Given the description of an element on the screen output the (x, y) to click on. 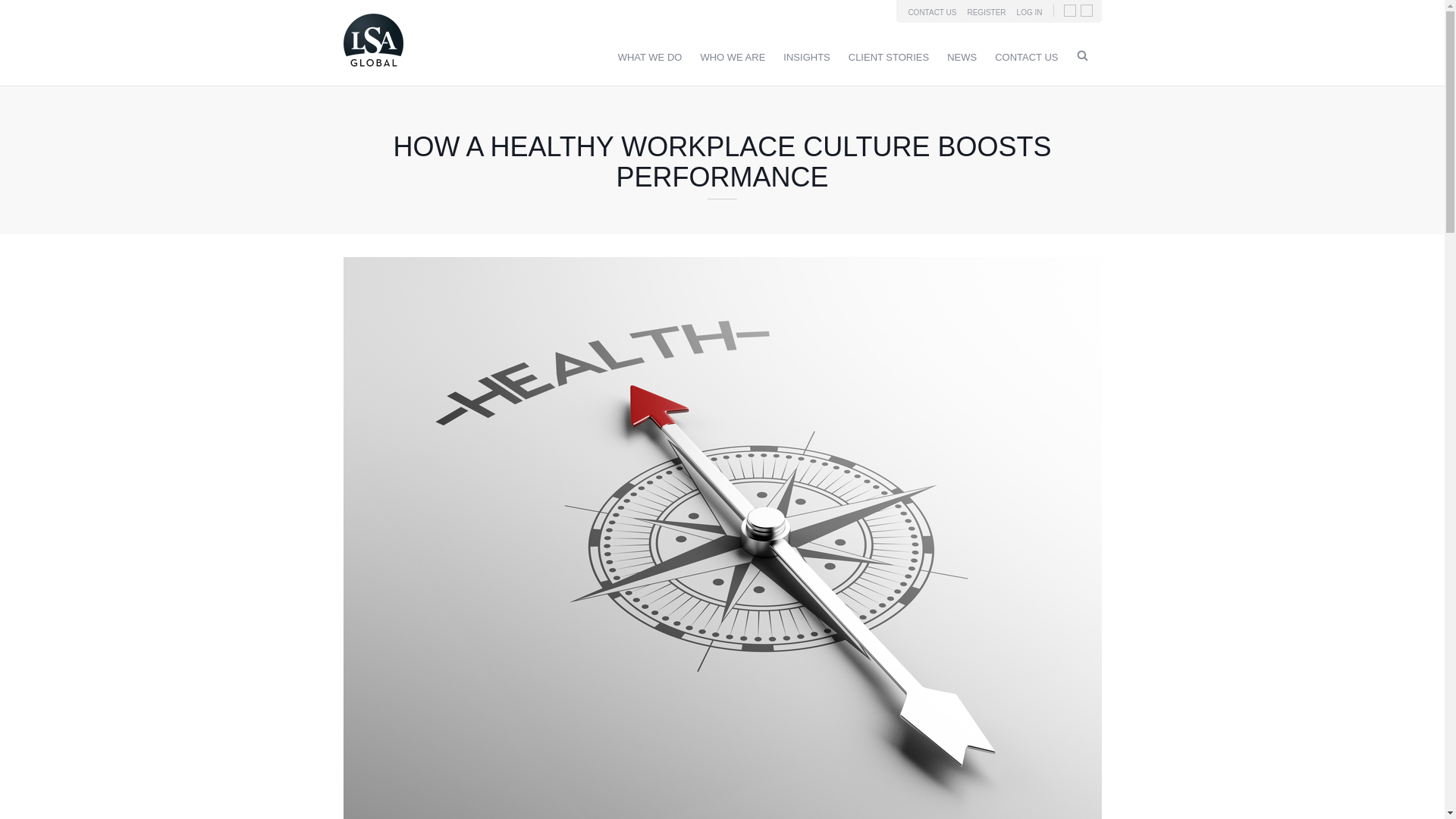
Insights (806, 57)
Return to the homepage (372, 69)
Contact Us (1026, 57)
Client Stories (888, 57)
News (961, 57)
